Given the description of an element on the screen output the (x, y) to click on. 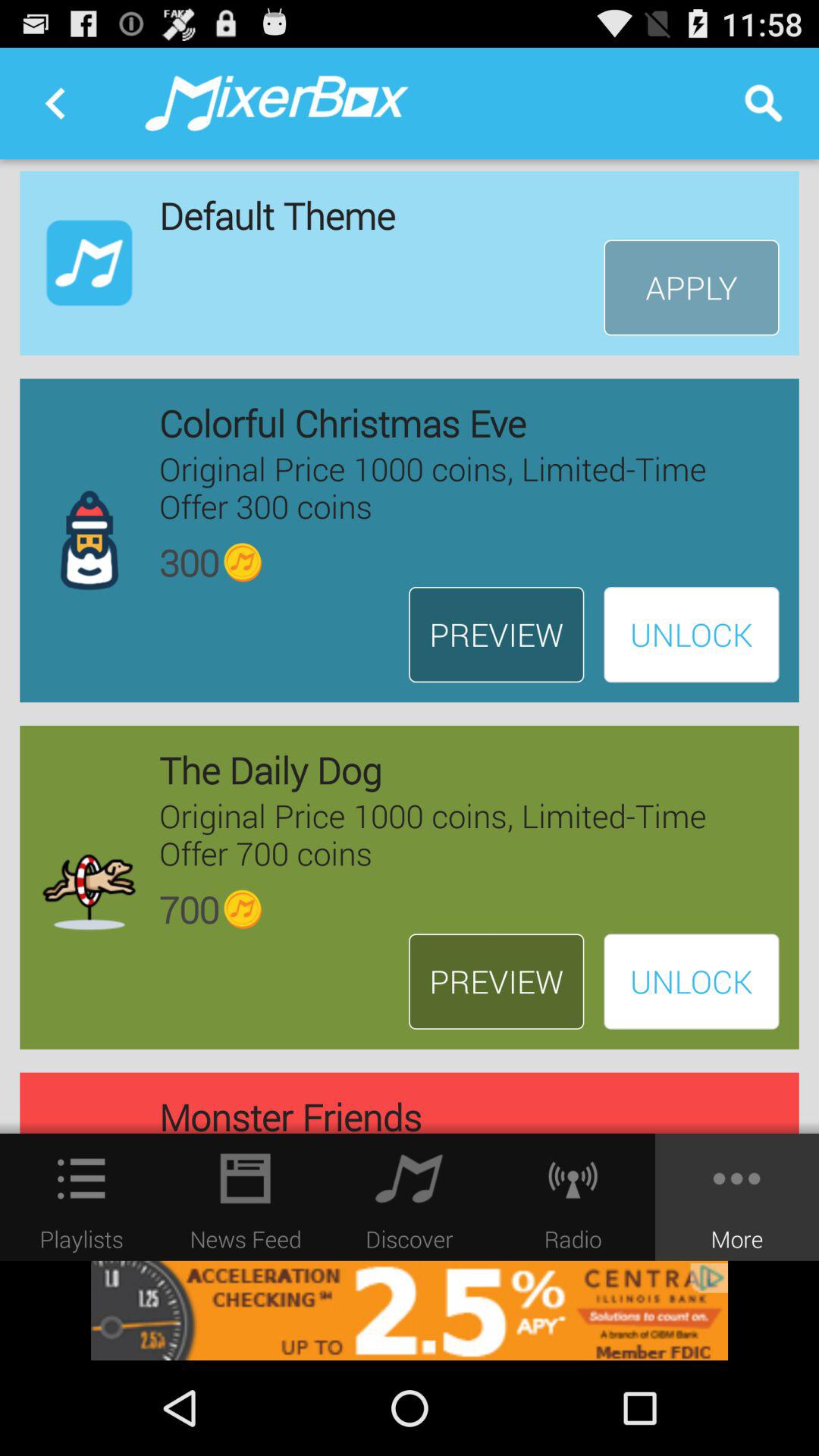
select the discover option (409, 1178)
select the coin which is beside 700 (242, 909)
go to option right sideof radio option (737, 1197)
select the preview button which is in green color box (495, 981)
click on text which is right to the back button (277, 103)
click the news feed icon (245, 1178)
